Given the description of an element on the screen output the (x, y) to click on. 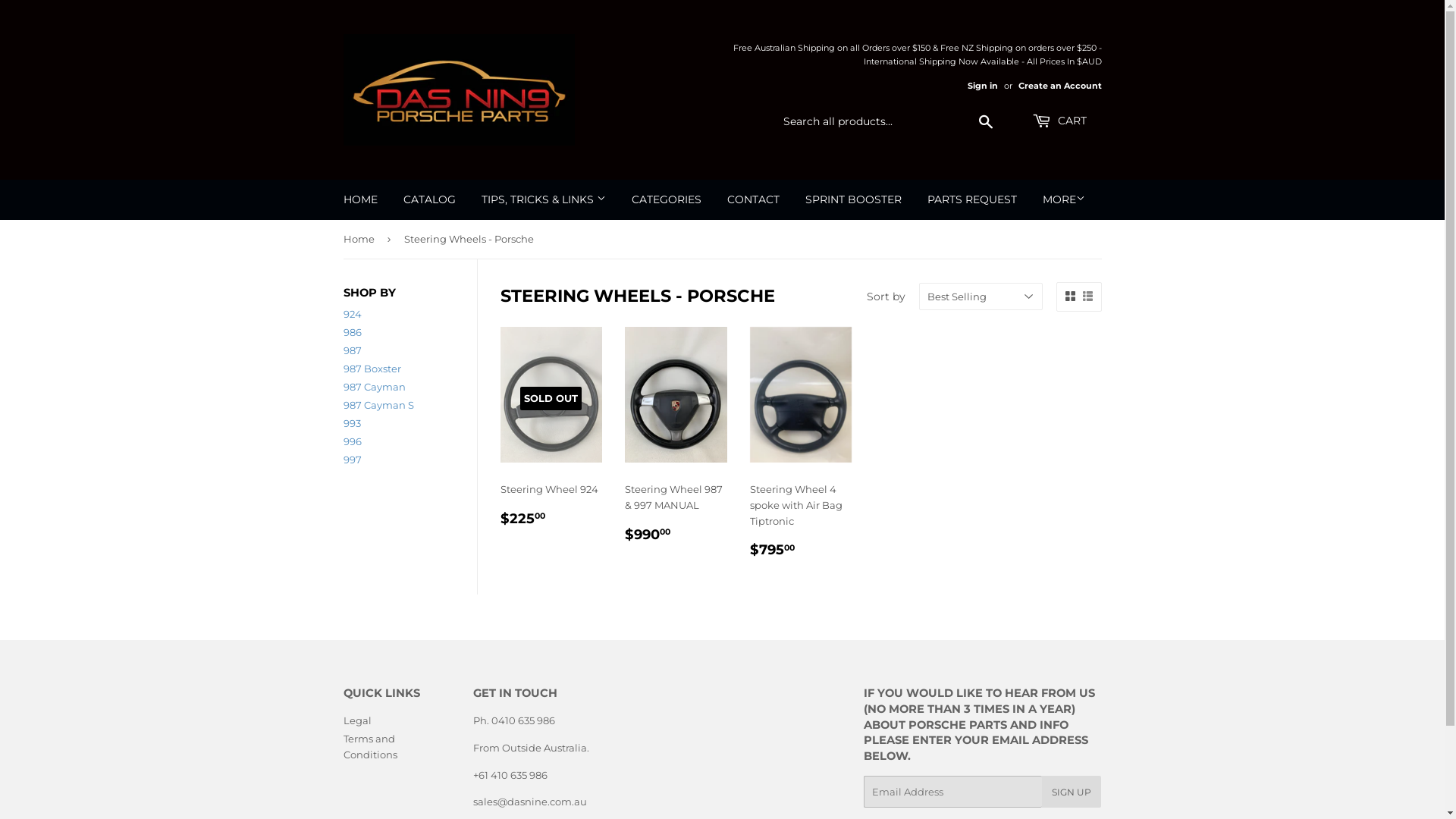
CATALOG Element type: text (428, 199)
CATEGORIES Element type: text (666, 199)
Grid view Element type: hover (1069, 296)
996 Element type: text (351, 441)
986 Element type: text (351, 332)
987 Boxster Element type: text (371, 368)
997 Element type: text (351, 459)
987 Cayman Element type: text (373, 386)
MORE Element type: text (1063, 199)
Legal Element type: text (356, 720)
CART Element type: text (1058, 121)
SIGN UP Element type: text (1071, 791)
924 Element type: text (351, 313)
Sign in Element type: text (982, 85)
sales@dasnine.com.au Element type: text (529, 801)
TIPS, TRICKS & LINKS Element type: text (543, 199)
CONTACT Element type: text (752, 199)
993 Element type: text (351, 423)
Steering Wheel 987 & 997 MANUAL
REGULAR PRICE
$99000
$990.00 Element type: text (675, 441)
987 Element type: text (351, 350)
Search Element type: text (986, 122)
SPRINT BOOSTER Element type: text (852, 199)
987 Cayman S Element type: text (377, 404)
Home Element type: text (360, 238)
Create an Account Element type: text (1059, 85)
List view Element type: hover (1087, 296)
HOME Element type: text (360, 199)
PARTS REQUEST Element type: text (972, 199)
Terms and Conditions Element type: text (369, 746)
SOLD OUT
Steering Wheel 924
REGULAR PRICE
$22500
$225.00 Element type: text (551, 433)
